Given the description of an element on the screen output the (x, y) to click on. 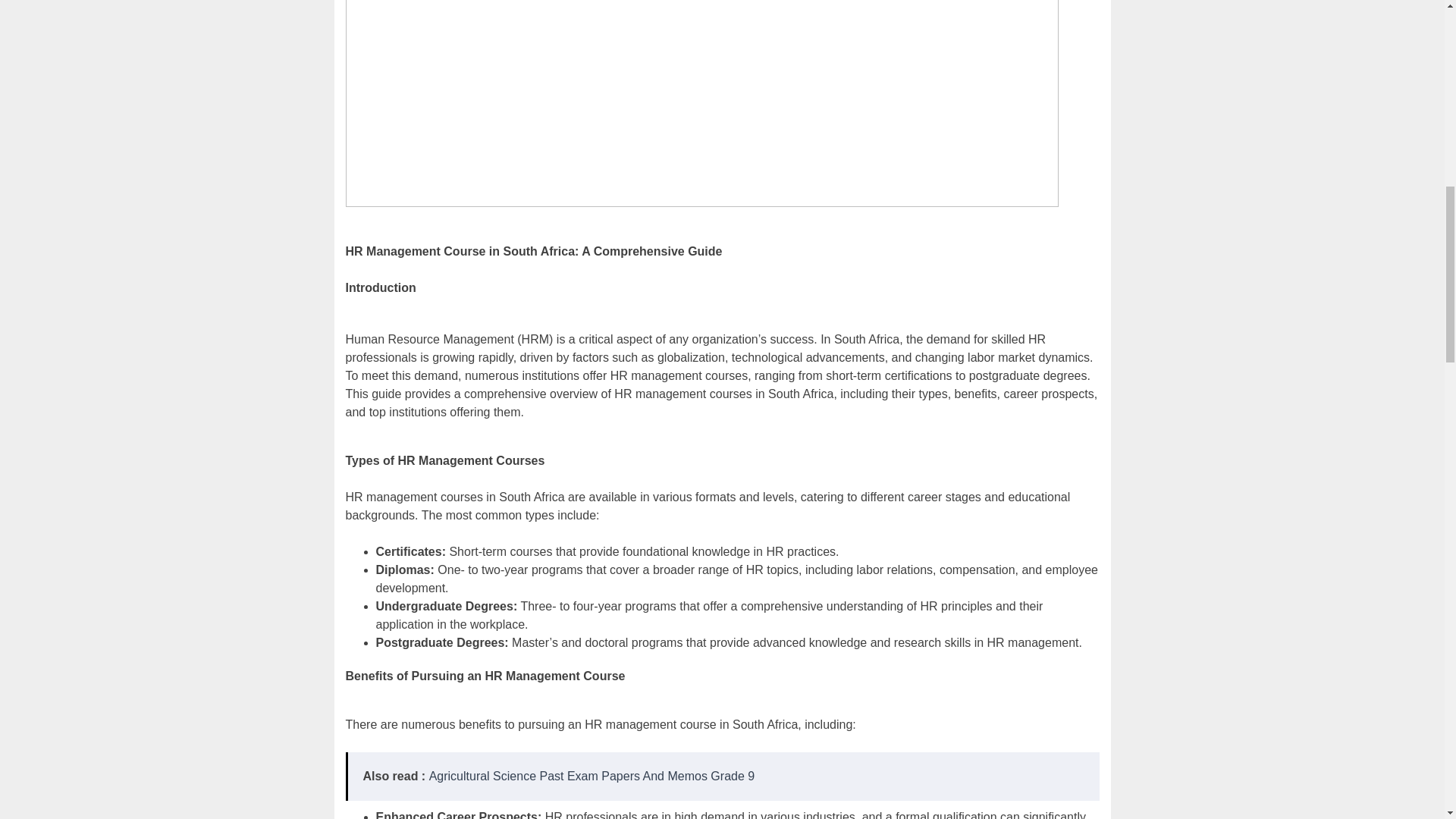
Agricultural Science Past Exam Papers And Memos Grade 9 (592, 775)
